Given the description of an element on the screen output the (x, y) to click on. 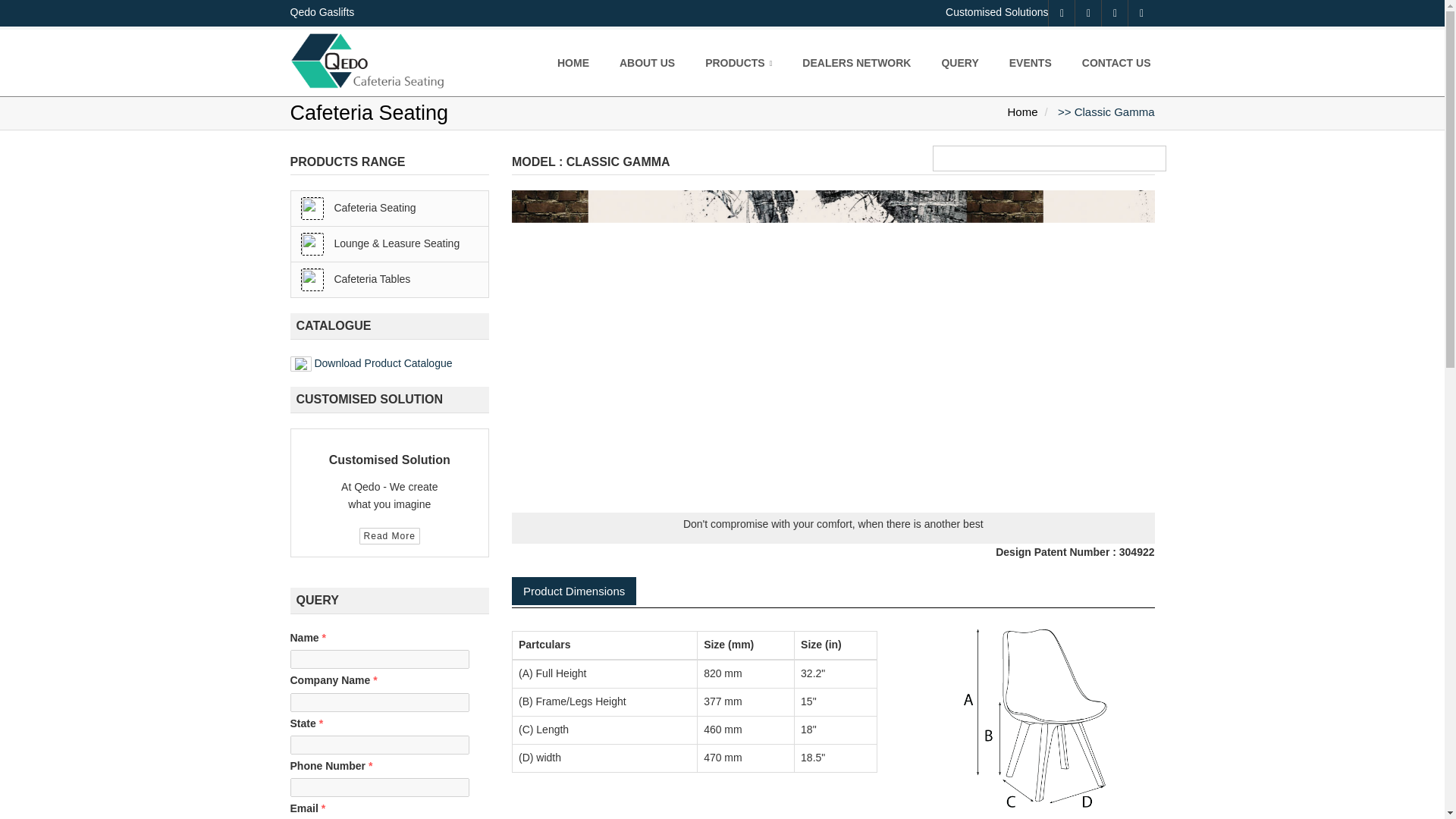
CONTACT US (1116, 57)
ABOUT US (647, 57)
Qedo Gaslifts (321, 12)
EVENTS (1030, 57)
DEALERS NETWORK (856, 57)
Cafeteria Seating (390, 208)
PRODUCTS (738, 57)
Customised Solutions (996, 12)
Home (1022, 111)
